Given the description of an element on the screen output the (x, y) to click on. 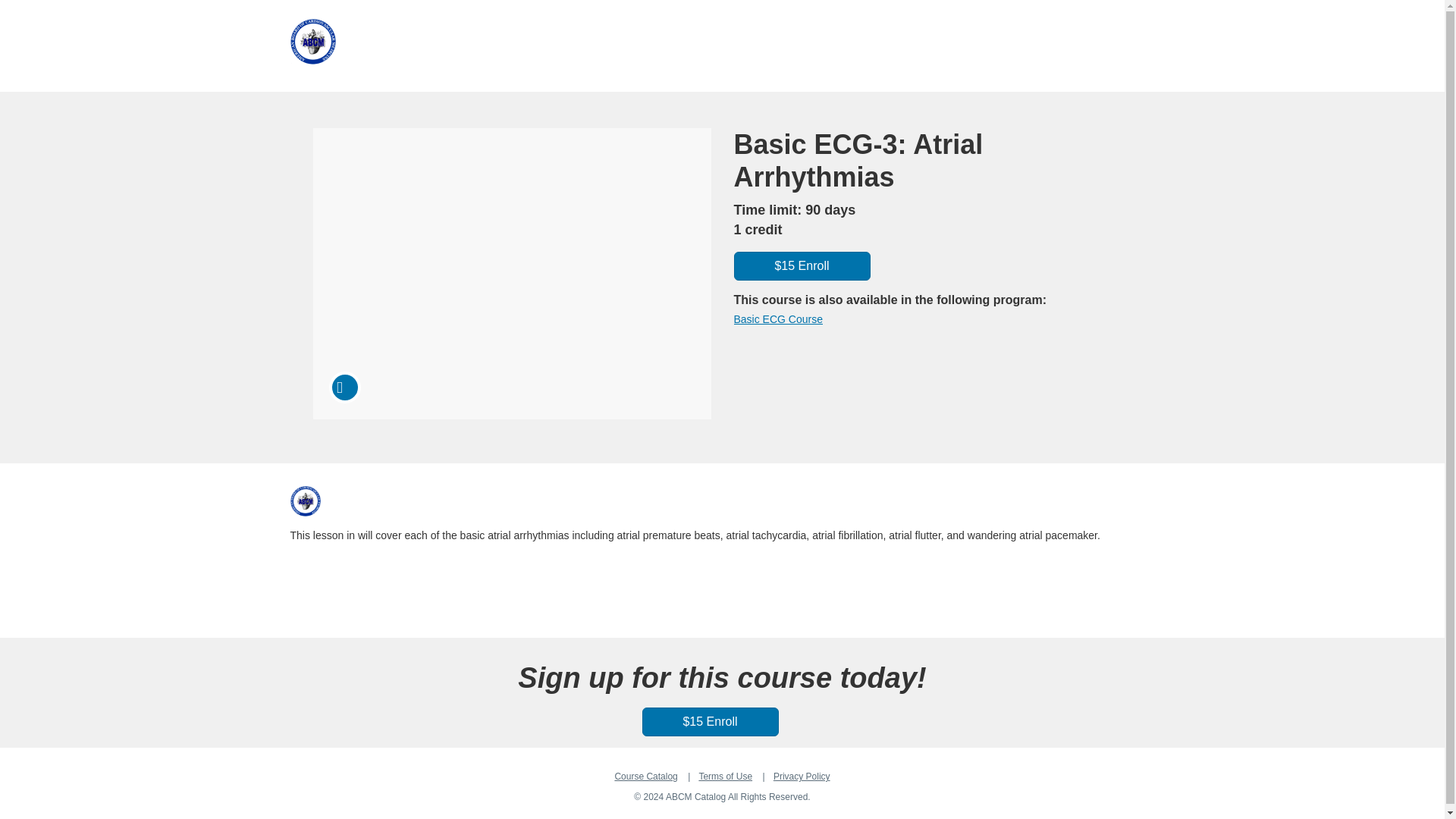
Course Catalog (645, 776)
Terms of Use (725, 776)
Basic ECG Course (777, 318)
ABCM Catalog (304, 501)
Course (345, 387)
Privacy Policy (801, 776)
